Given the description of an element on the screen output the (x, y) to click on. 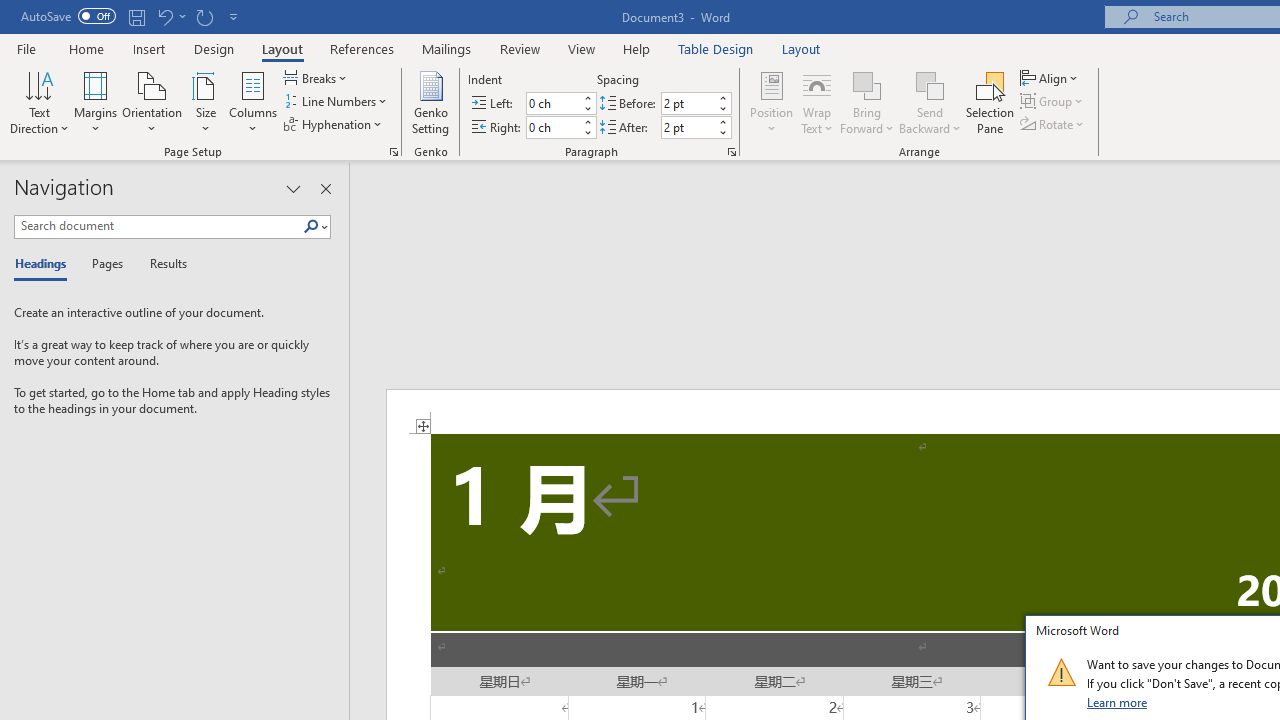
Undo Increase Indent (170, 15)
Spacing After (687, 127)
Undo Increase Indent (164, 15)
Bring Forward (867, 102)
Indent Right (552, 127)
More (722, 121)
Columns (253, 102)
